Given the description of an element on the screen output the (x, y) to click on. 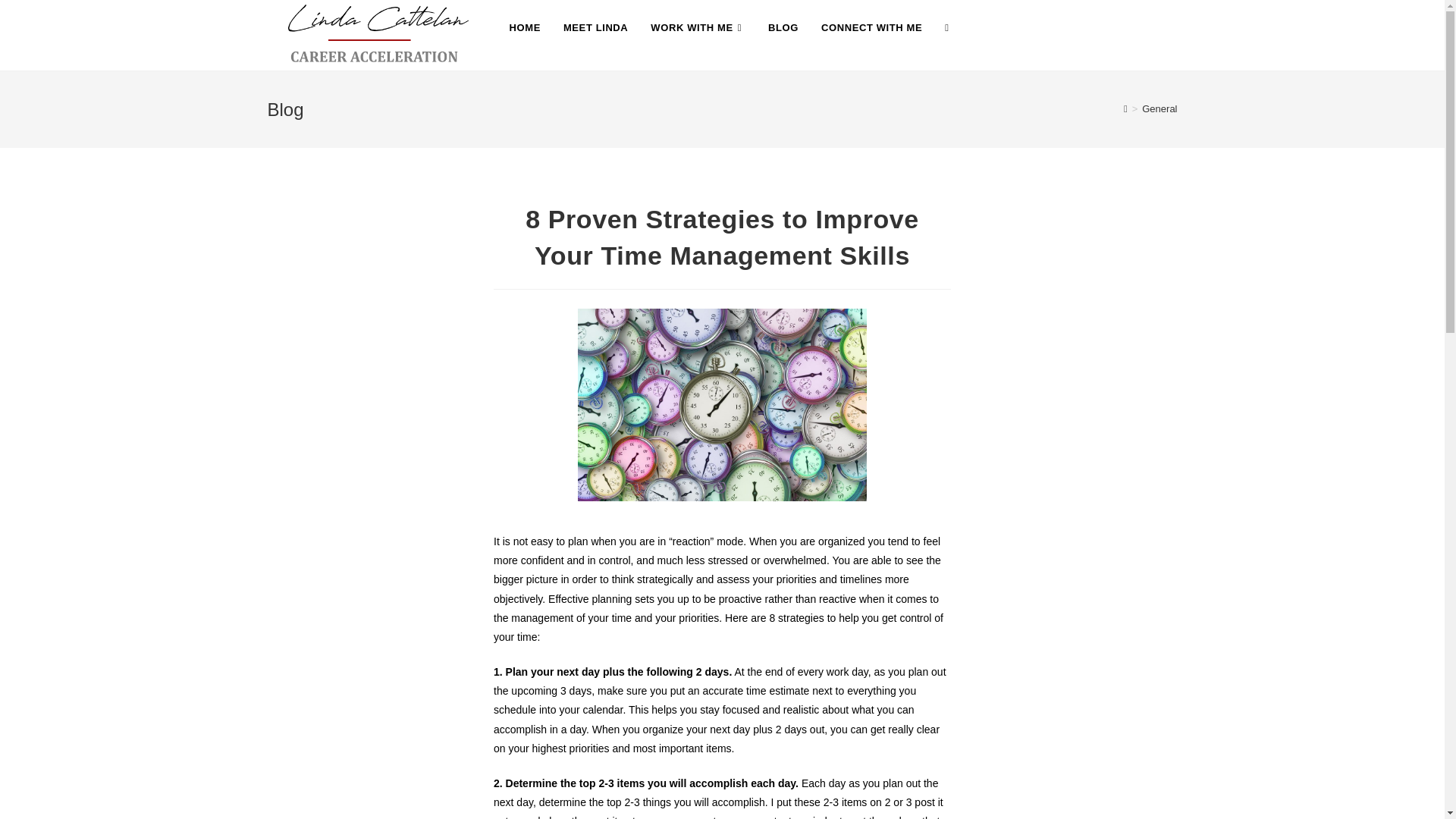
General (1158, 108)
CONNECT WITH ME (871, 28)
HOME (524, 28)
MEET LINDA (595, 28)
WORK WITH ME (698, 28)
BLOG (783, 28)
